Given the description of an element on the screen output the (x, y) to click on. 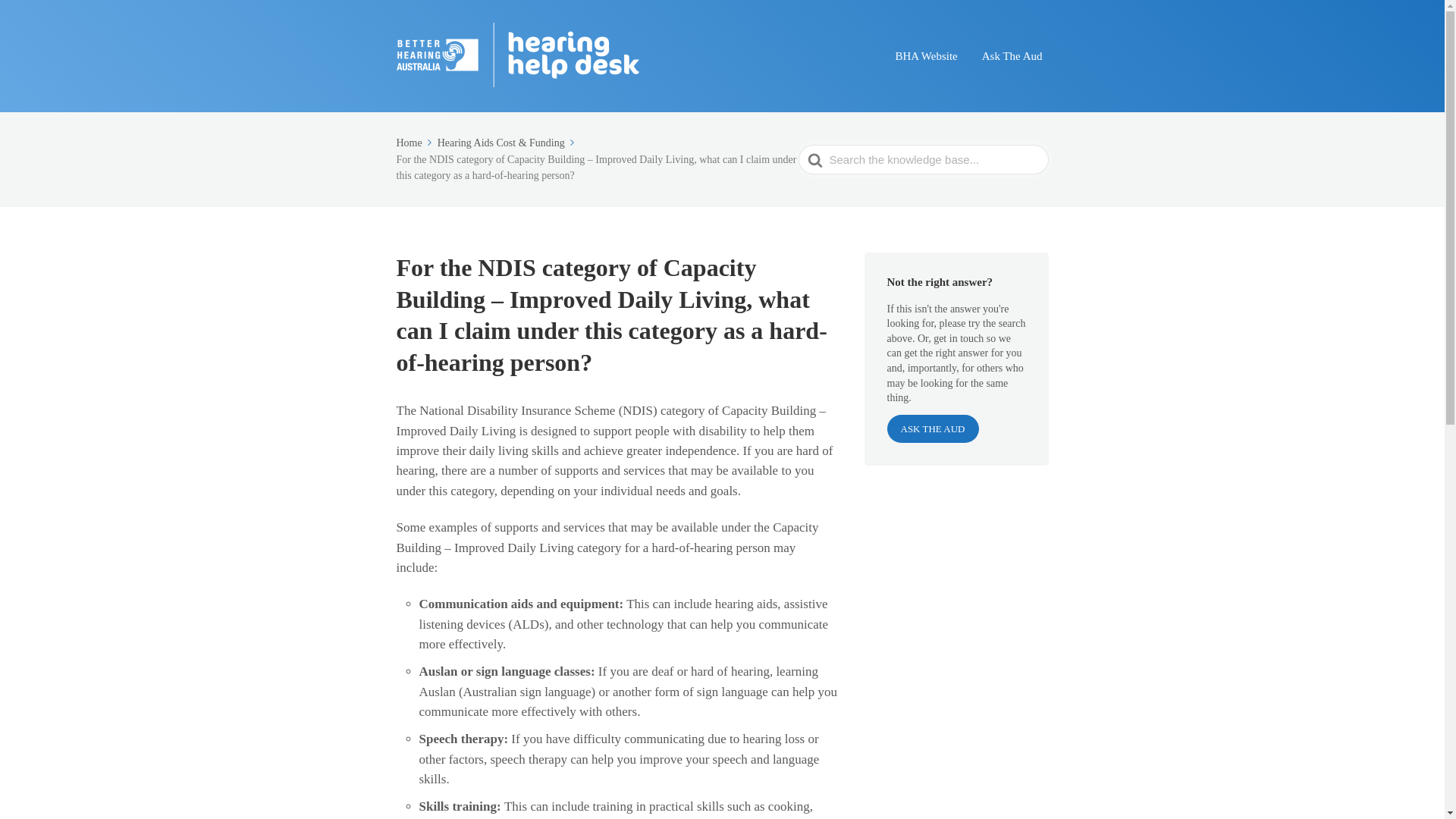
BHA Website (925, 55)
Ask The Aud (1011, 55)
Home (414, 142)
ASK THE AUD (932, 428)
